Given the description of an element on the screen output the (x, y) to click on. 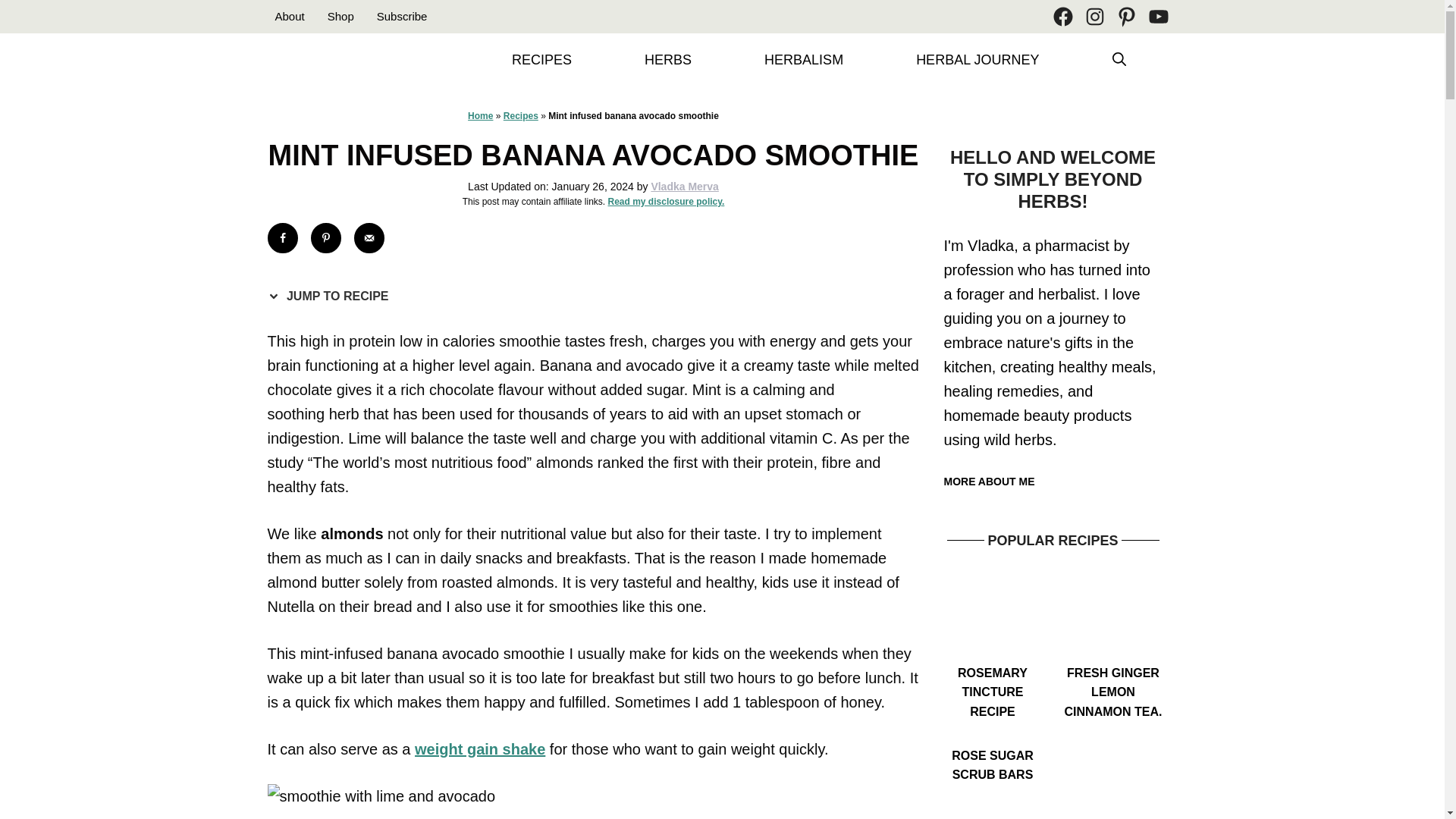
Share on Facebook (281, 237)
HERBAL JOURNEY (977, 59)
Recipes (520, 115)
Pinterest (1126, 15)
RECIPES (542, 59)
Subscribe (402, 15)
rose oil (1112, 770)
Vladka Merva (684, 186)
HERBS (668, 59)
weight gain shake (479, 749)
